Given the description of an element on the screen output the (x, y) to click on. 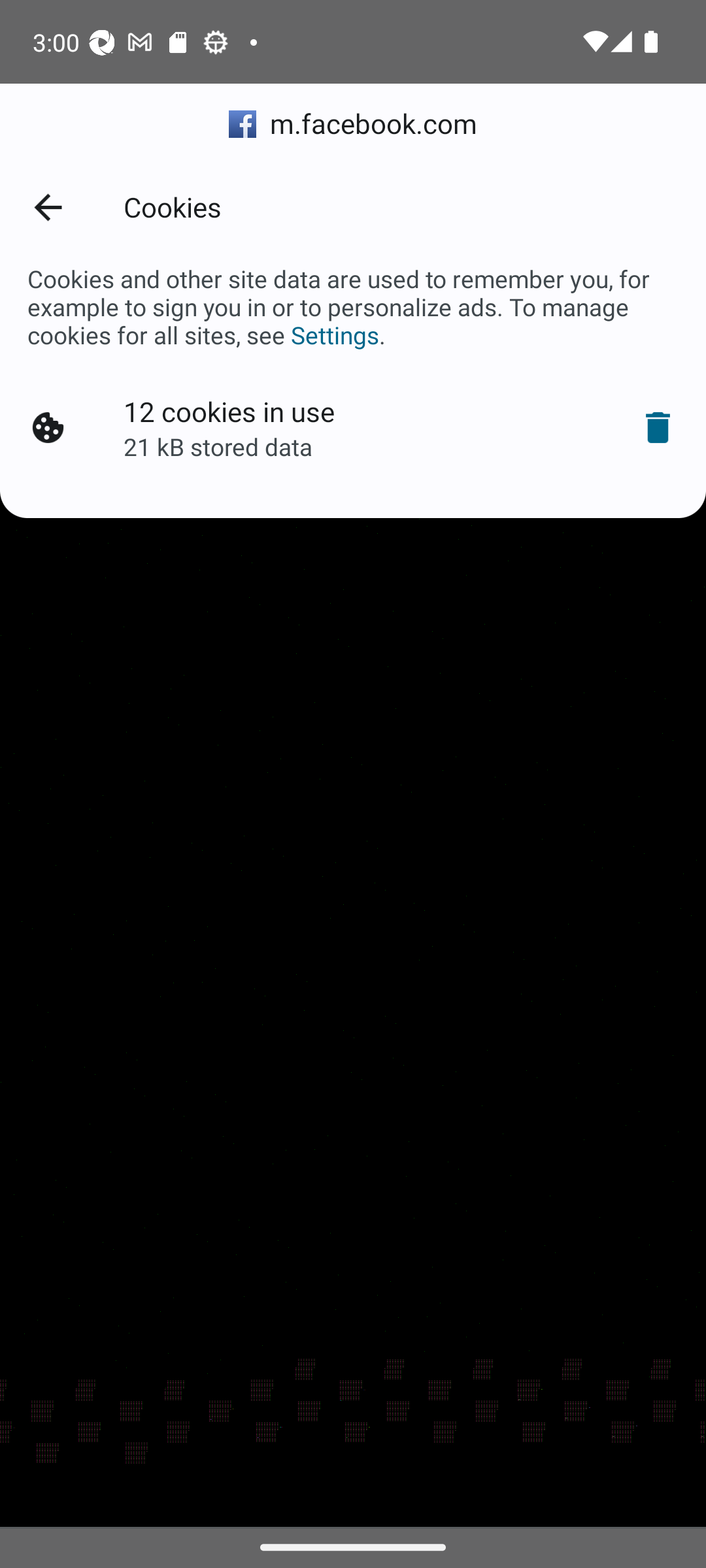
m.facebook.com (353, 124)
Back (47, 206)
12 cookies in use 21 kB stored data Clear cookies? (353, 427)
